Given the description of an element on the screen output the (x, y) to click on. 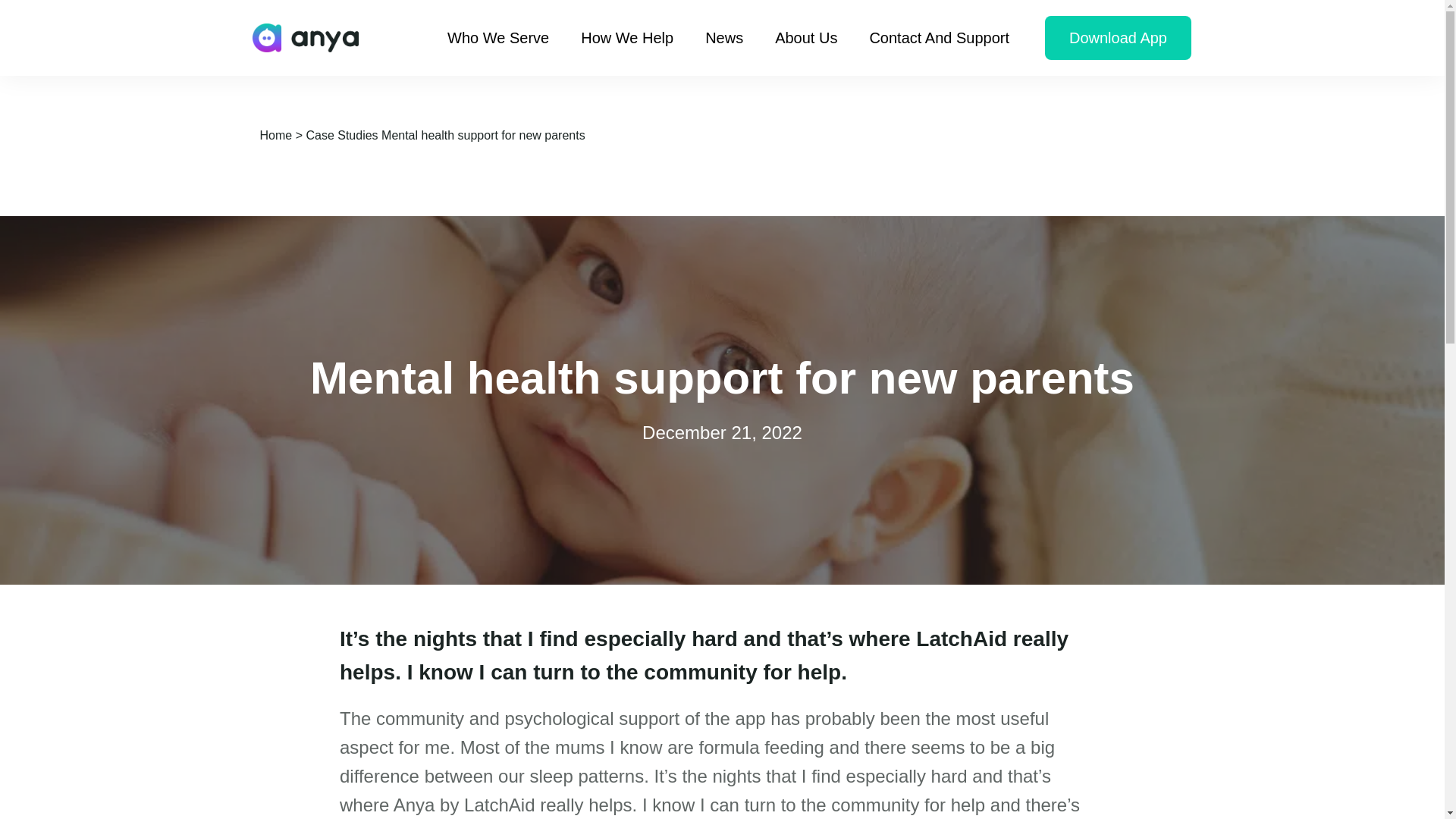
Who We Serve (498, 37)
About Us (806, 37)
How We Help (626, 37)
News (724, 37)
Case Studies (341, 134)
Download App (1118, 37)
Contact And Support (938, 37)
